Given the description of an element on the screen output the (x, y) to click on. 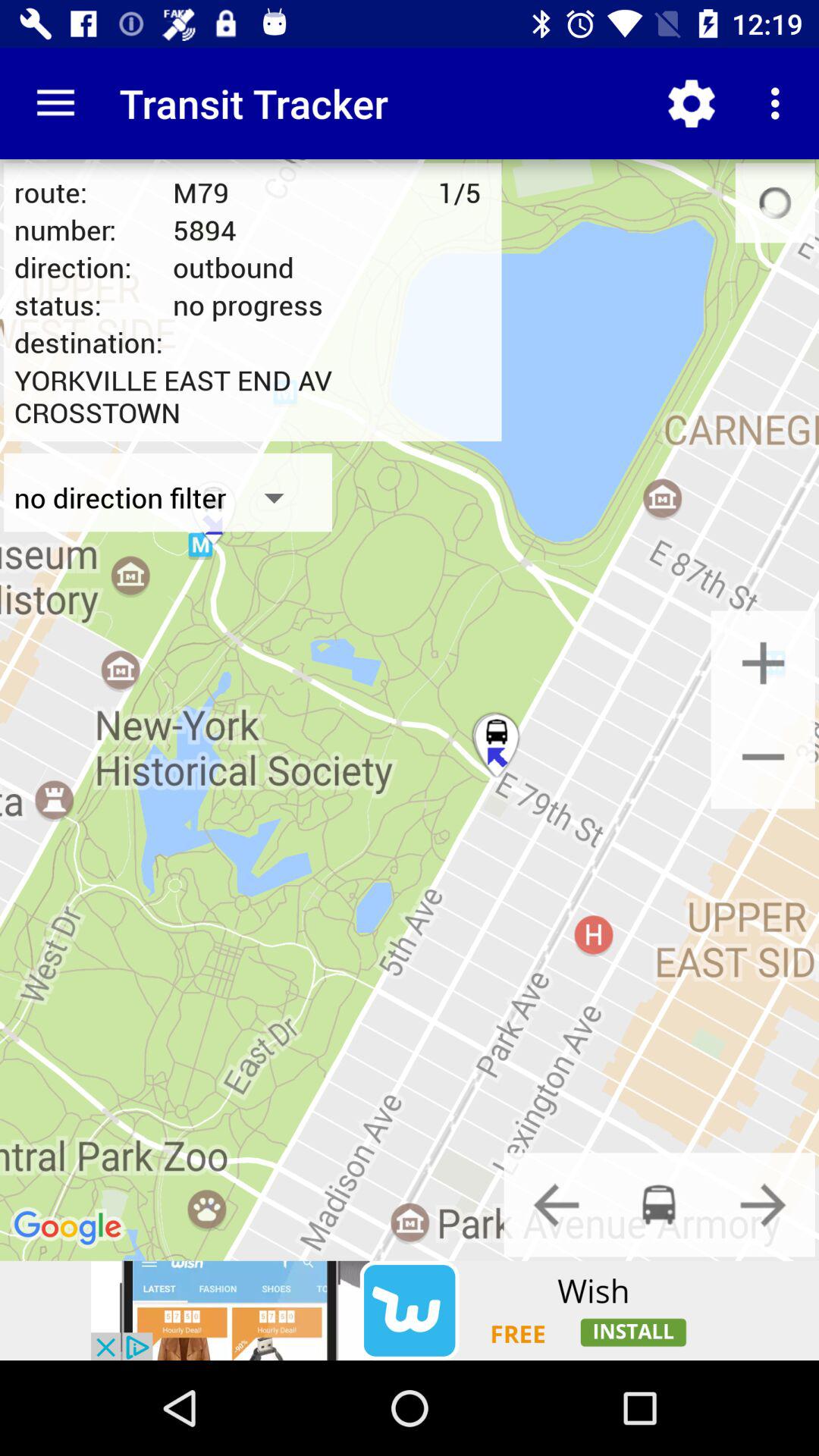
go forward (762, 1204)
